Given the description of an element on the screen output the (x, y) to click on. 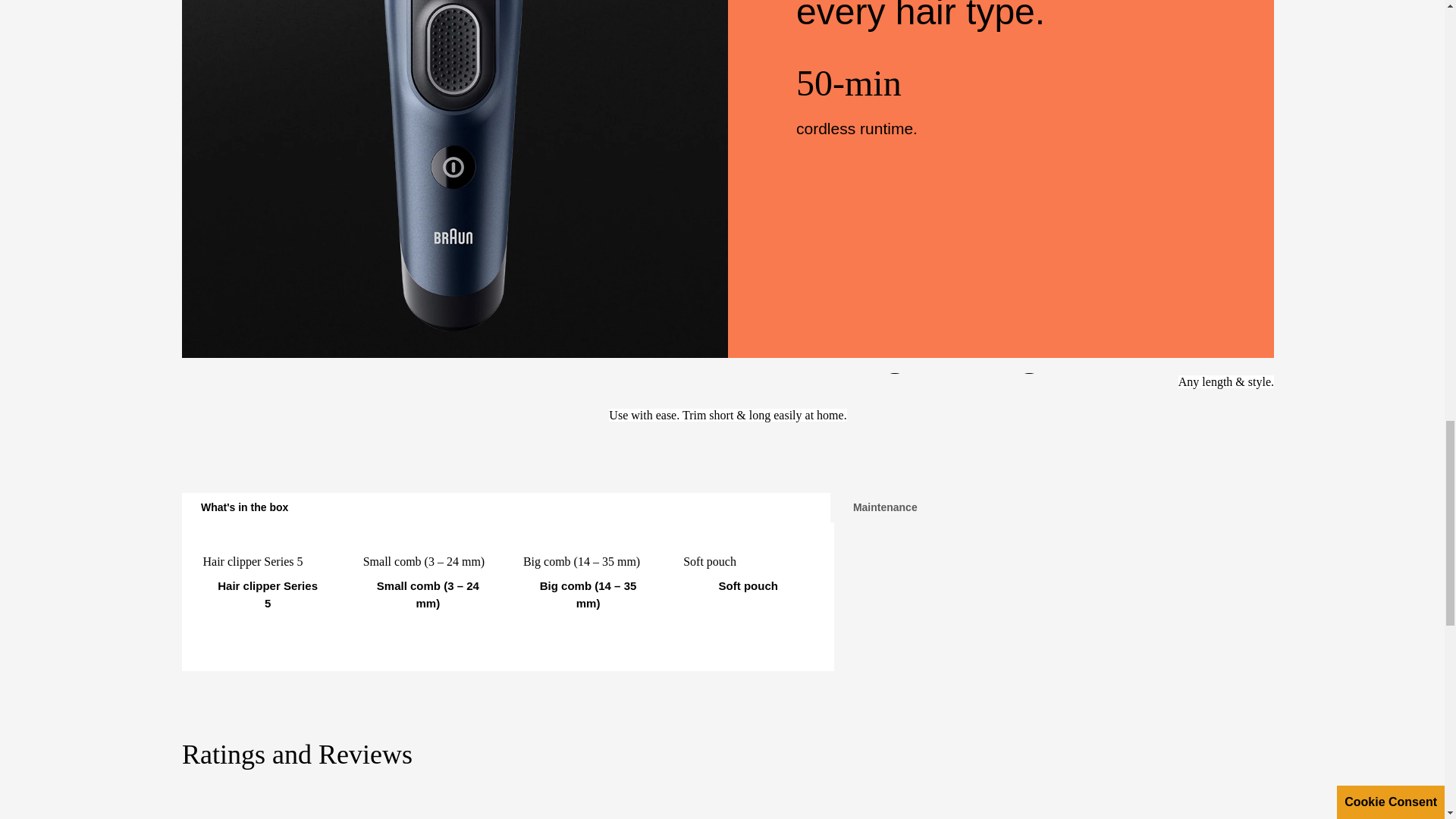
Soft pouch (747, 584)
Hair clipper Series 5 (268, 593)
